Given the description of an element on the screen output the (x, y) to click on. 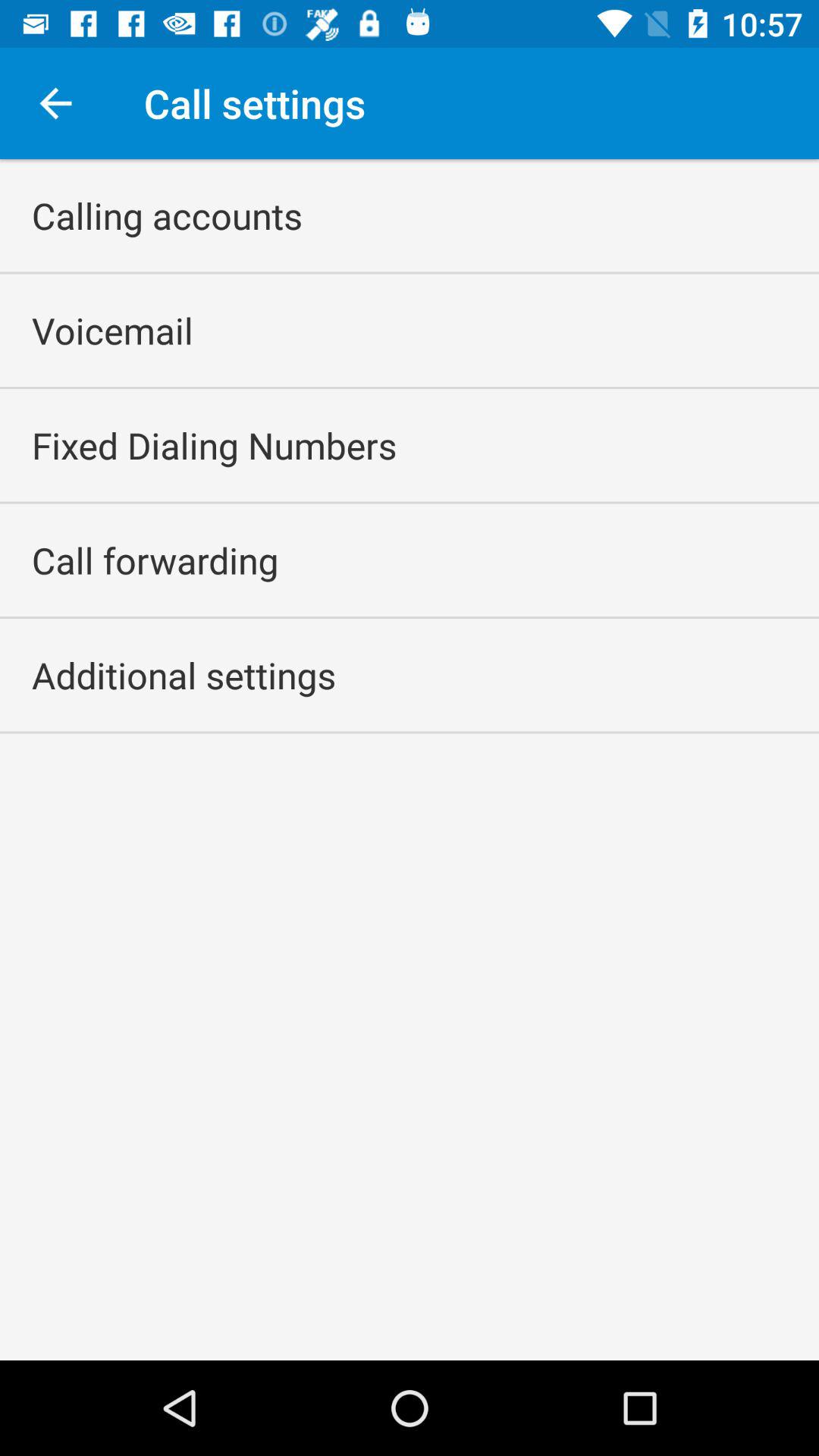
open the app below calling accounts icon (112, 329)
